Given the description of an element on the screen output the (x, y) to click on. 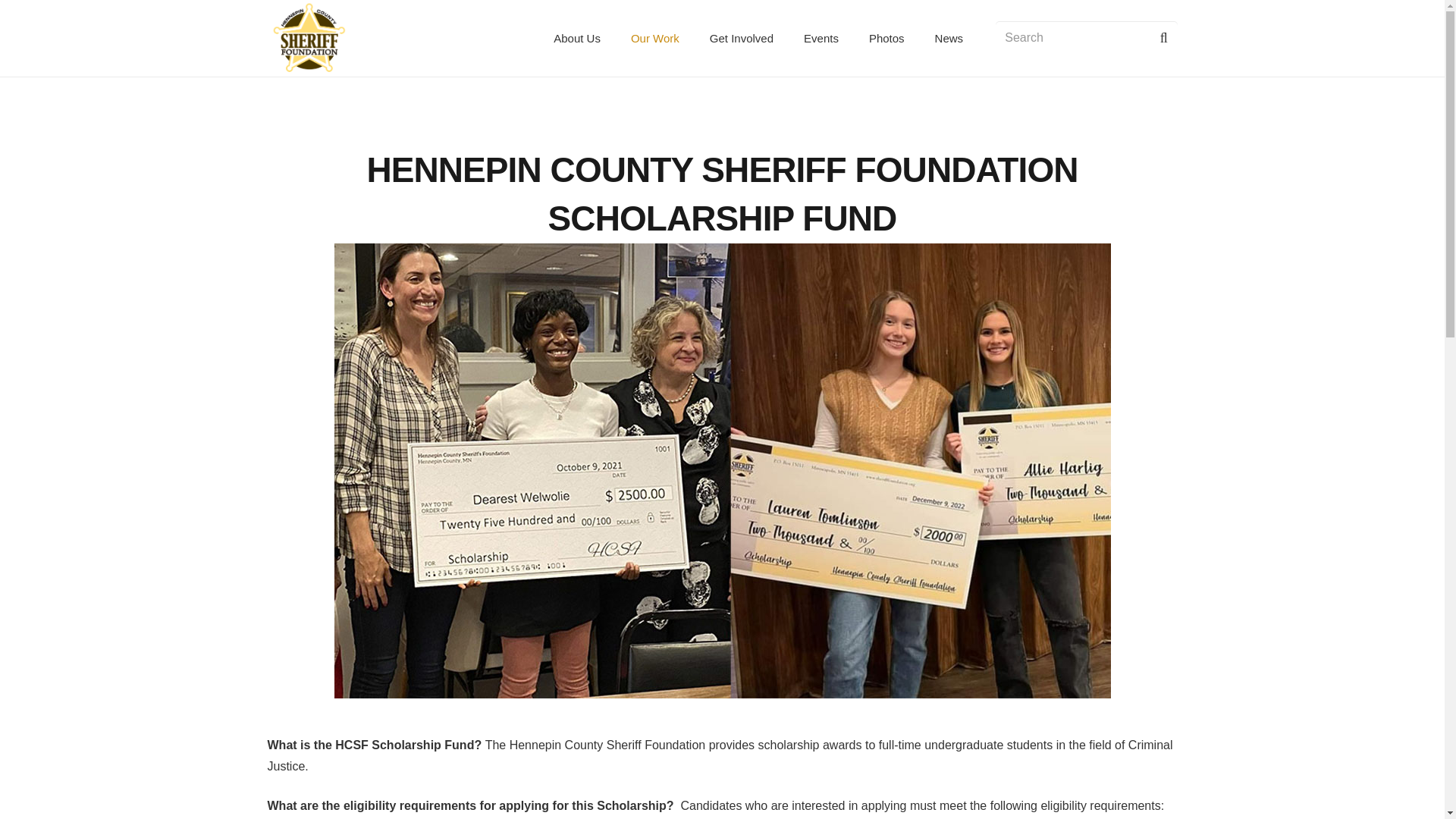
Our Work (654, 38)
About Us (576, 38)
Get Involved (741, 38)
